Given the description of an element on the screen output the (x, y) to click on. 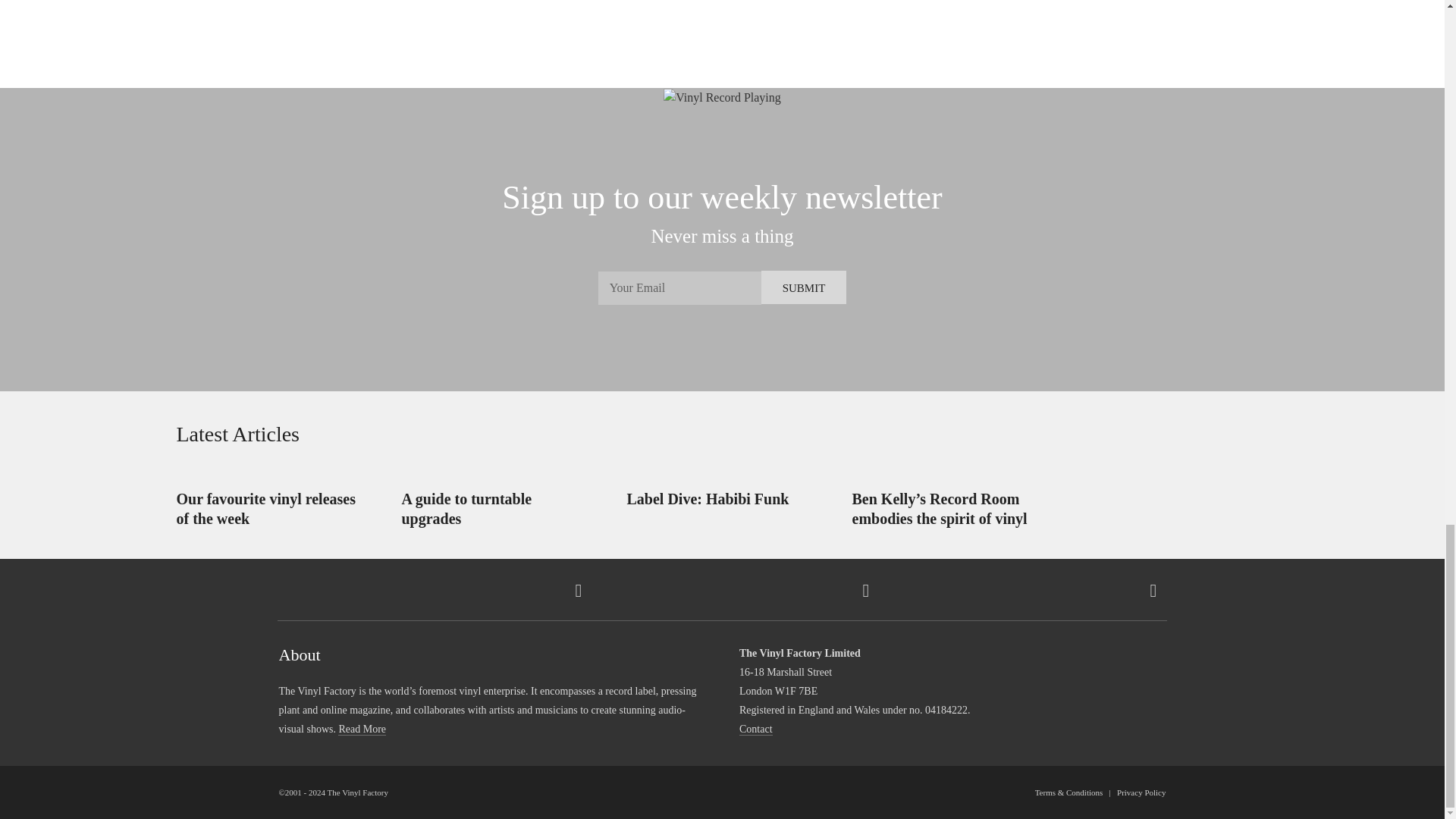
SUBMIT (804, 287)
